Given the description of an element on the screen output the (x, y) to click on. 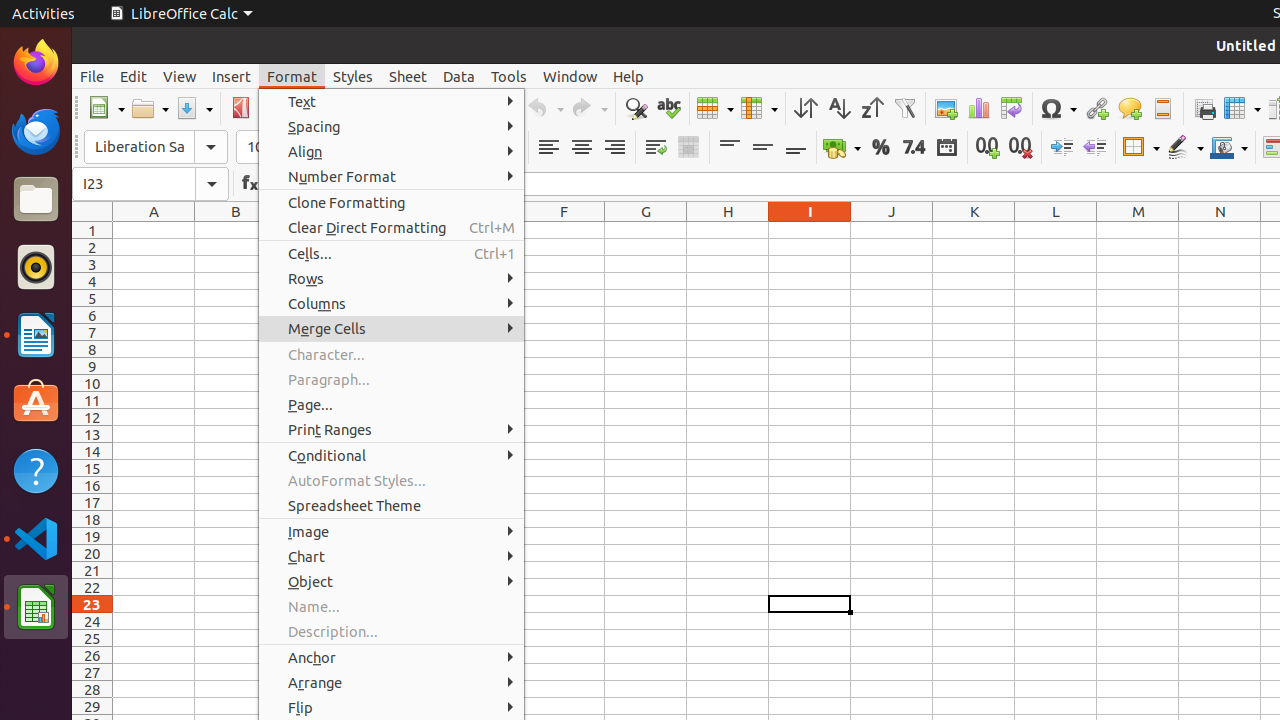
Align Element type: menu (391, 151)
Chart Element type: push-button (978, 108)
Pivot Table Element type: push-button (1011, 108)
Headers and Footers Element type: push-button (1162, 108)
Spacing Element type: menu (391, 126)
